Given the description of an element on the screen output the (x, y) to click on. 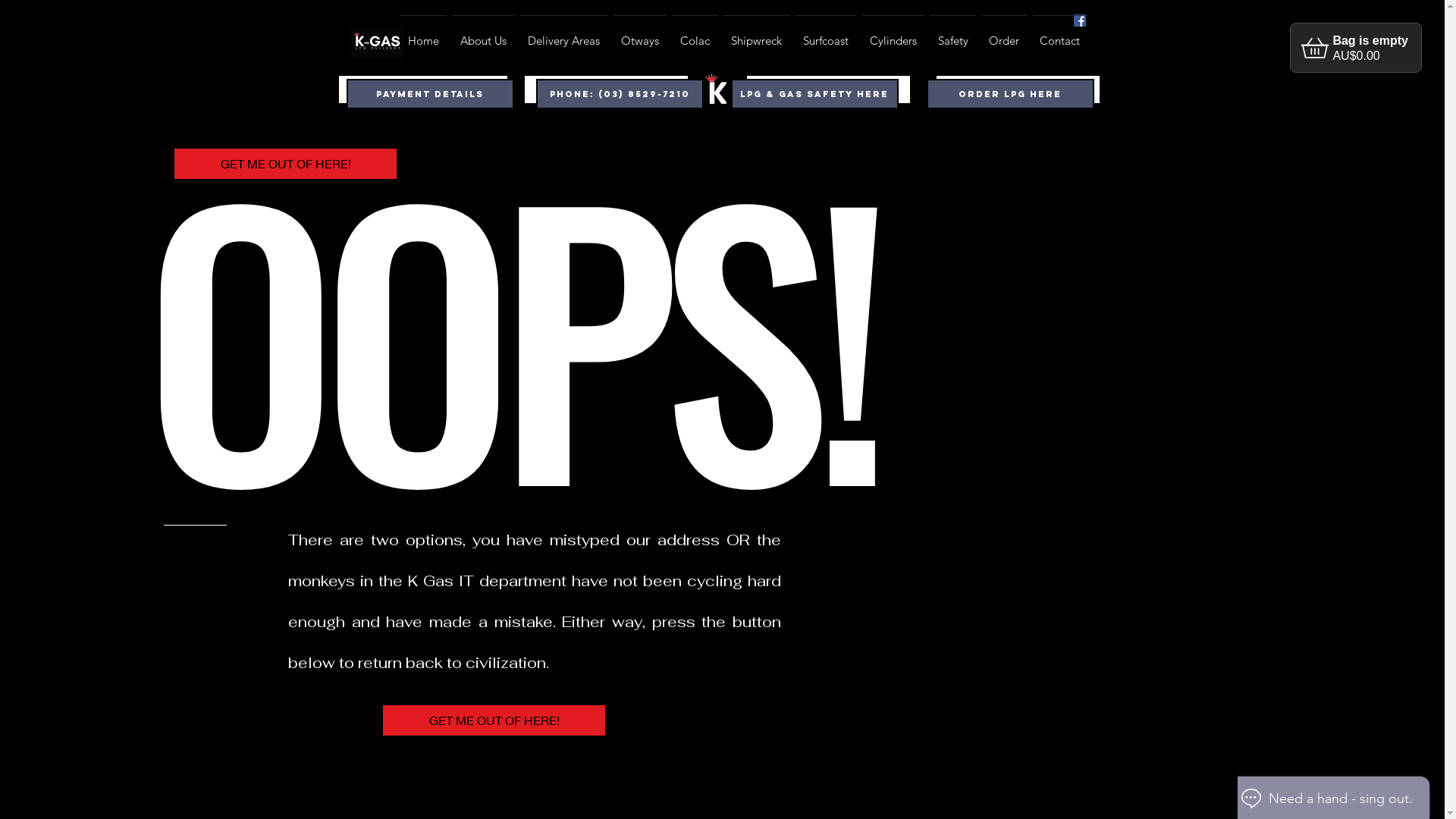
Phone: (03) 8529-7210 Element type: text (618, 93)
Delivery Areas Element type: text (563, 34)
Order Lpg here Element type: text (1017, 89)
Order Lpg here Element type: text (827, 89)
Order Lpg here Element type: text (1010, 93)
LPG & Gas Safety Here Element type: text (422, 89)
Payment Details Element type: text (429, 93)
Order Lpg here Element type: text (606, 89)
Home Element type: text (423, 34)
LPG & Gas Safety Here Element type: text (814, 93)
Online Store Element type: hover (1363, 42)
